Given the description of an element on the screen output the (x, y) to click on. 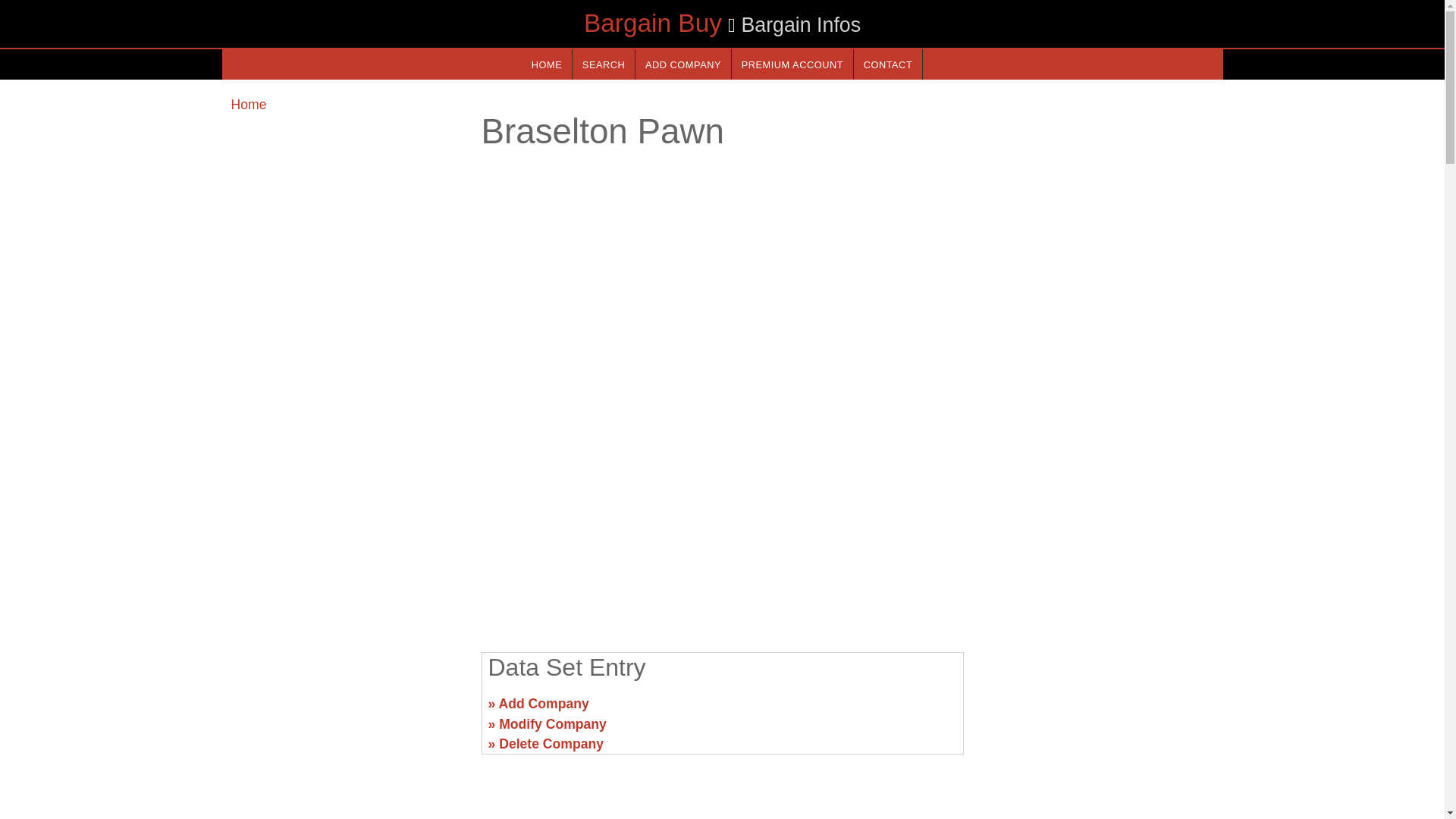
HOME (546, 64)
Premium account (792, 64)
Advertisement (346, 710)
Home (248, 104)
Advertisement (721, 522)
ADD COMPANY (682, 64)
Search in this webseite. (603, 64)
CONTACT (887, 64)
SEARCH (603, 64)
PREMIUM ACCOUNT (792, 64)
Advertisement (1096, 710)
Bargain Buy (652, 22)
Add a new company (682, 64)
